Given the description of an element on the screen output the (x, y) to click on. 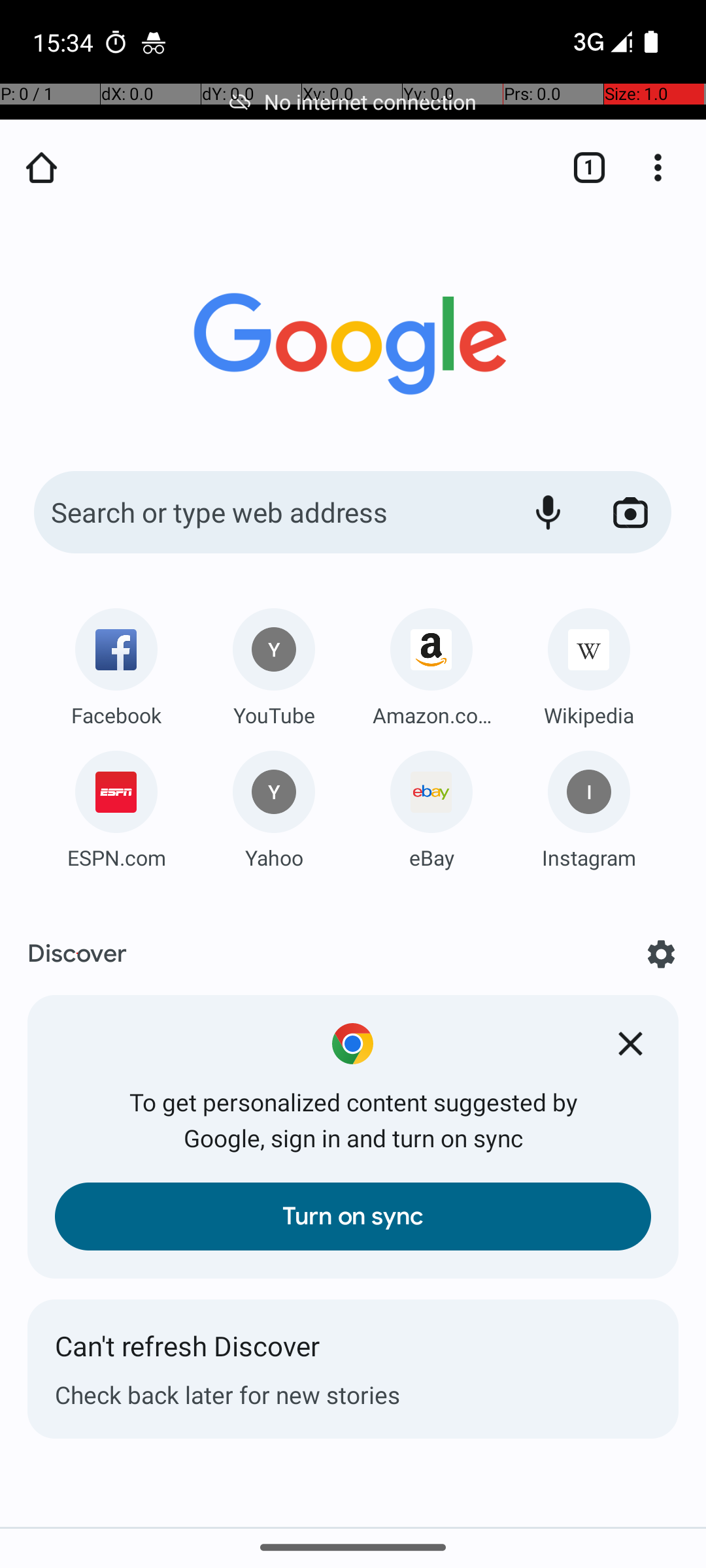
To get personalized content suggested by Google, sign in and turn on sync Element type: android.widget.TextView (352, 1119)
Turn on sync Element type: android.widget.Button (352, 1216)
